Given the description of an element on the screen output the (x, y) to click on. 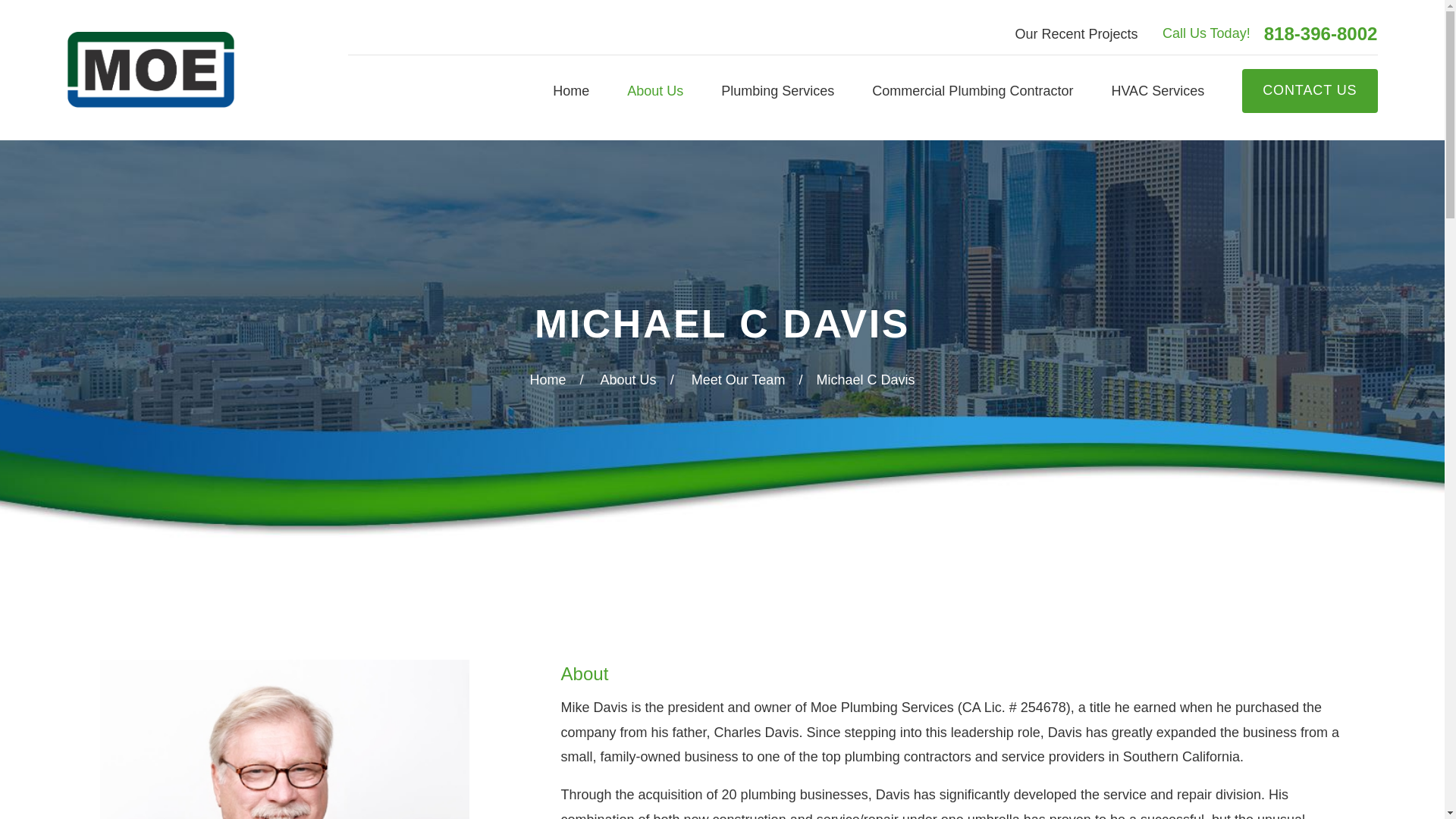
Home (150, 69)
About Us (654, 91)
Go Home (547, 379)
Our Recent Projects (1075, 33)
818-396-8002 (1320, 34)
Plumbing Services (777, 91)
